Given the description of an element on the screen output the (x, y) to click on. 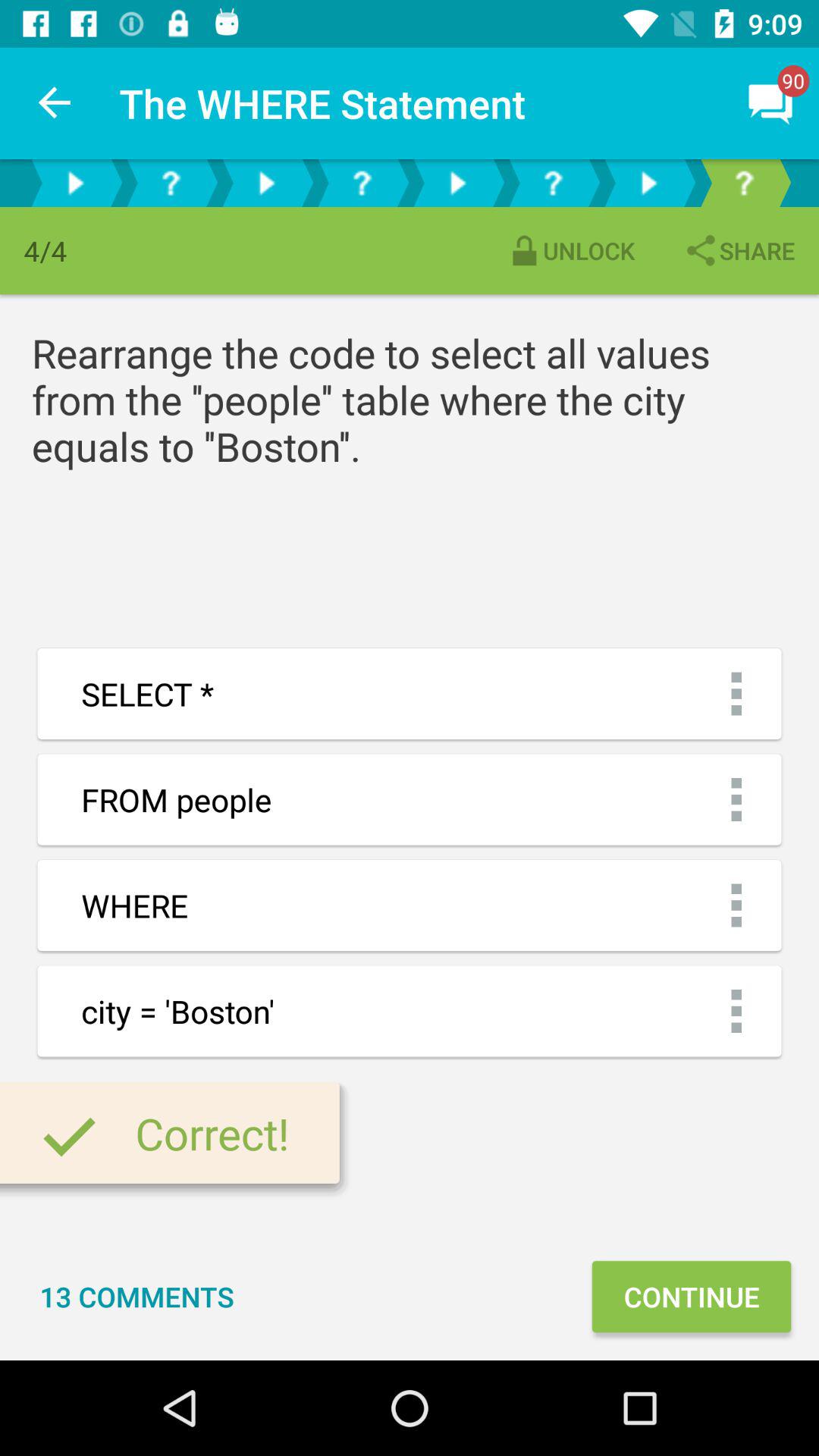
button for question part (170, 183)
